Given the description of an element on the screen output the (x, y) to click on. 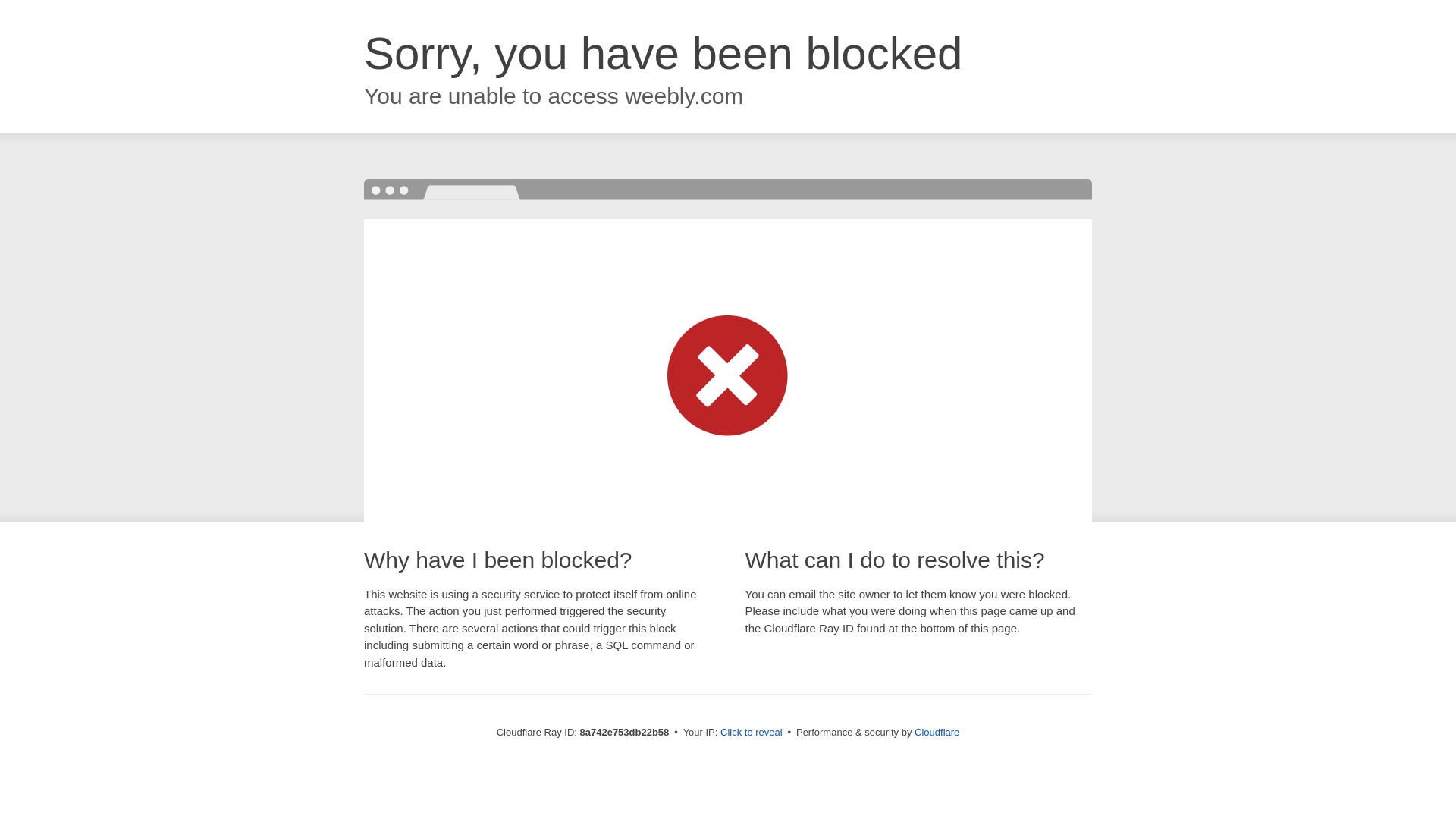
Cloudflare (936, 731)
Click to reveal (751, 732)
